Given the description of an element on the screen output the (x, y) to click on. 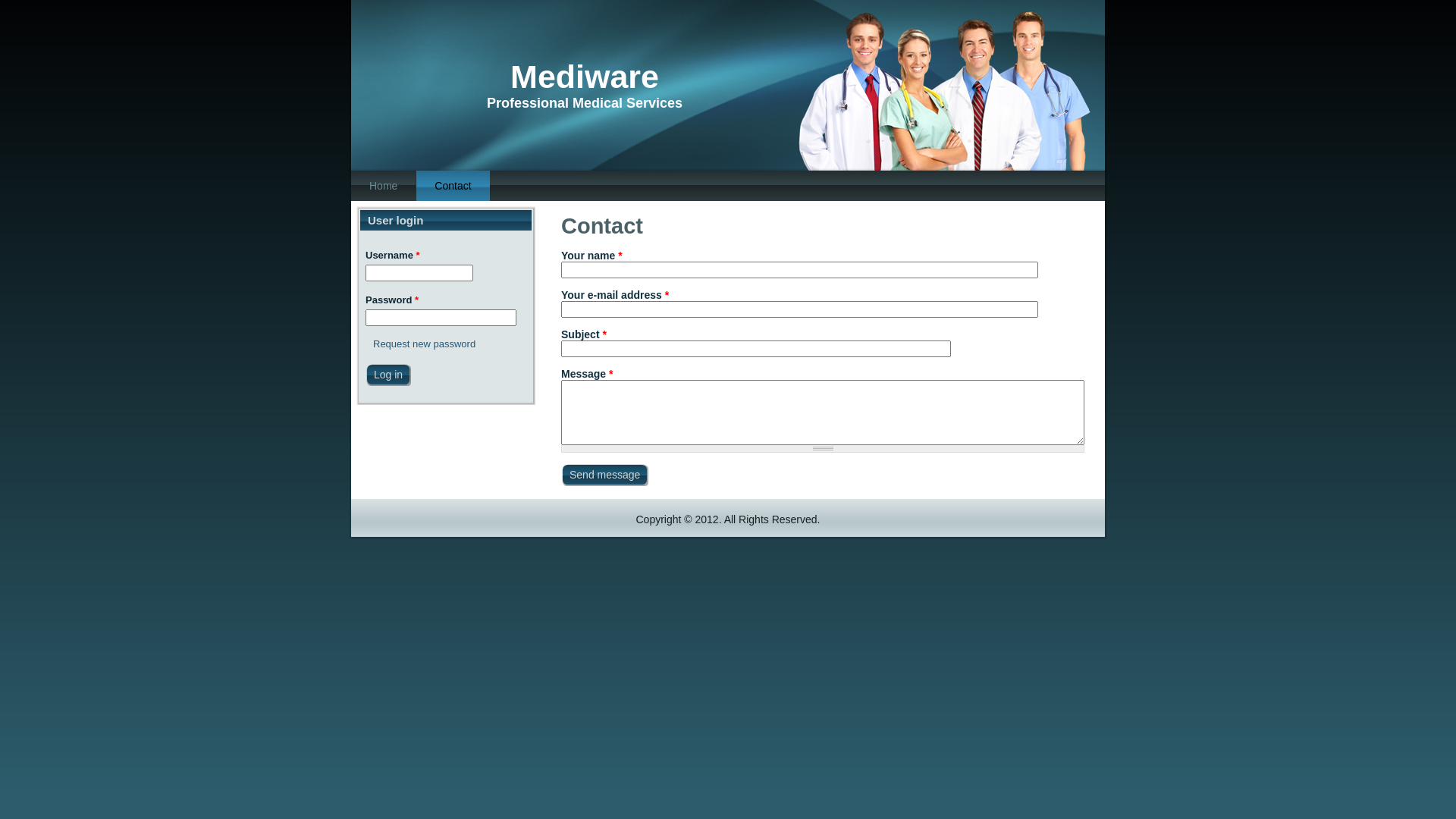
Log in Element type: text (388, 374)
Mediware Element type: text (584, 76)
Send message Element type: text (604, 474)
Contact Element type: text (452, 185)
Request new password Element type: text (424, 343)
Home Element type: text (383, 185)
